Given the description of an element on the screen output the (x, y) to click on. 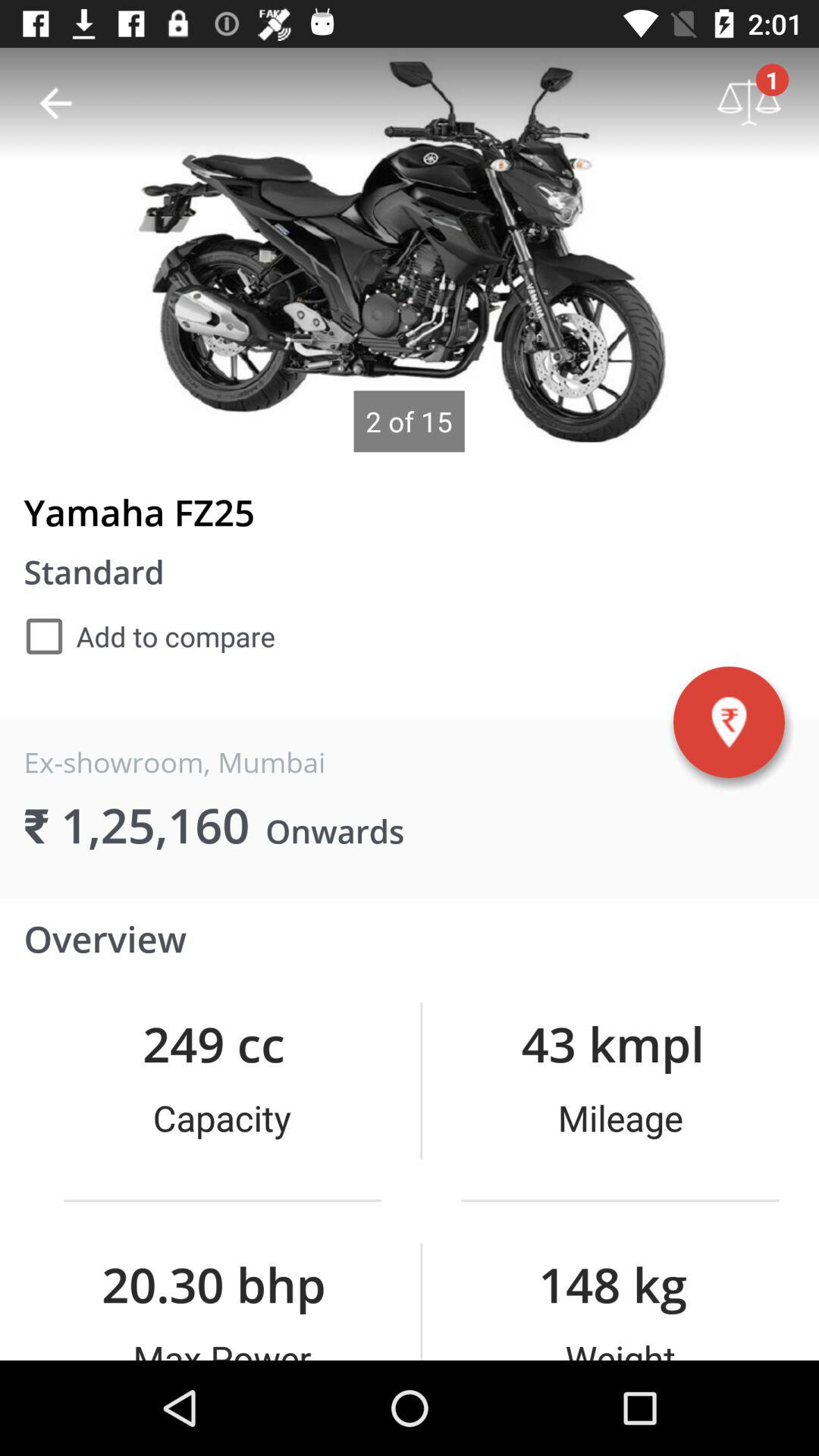
turn on the item above yamaha fz25 icon (55, 103)
